Given the description of an element on the screen output the (x, y) to click on. 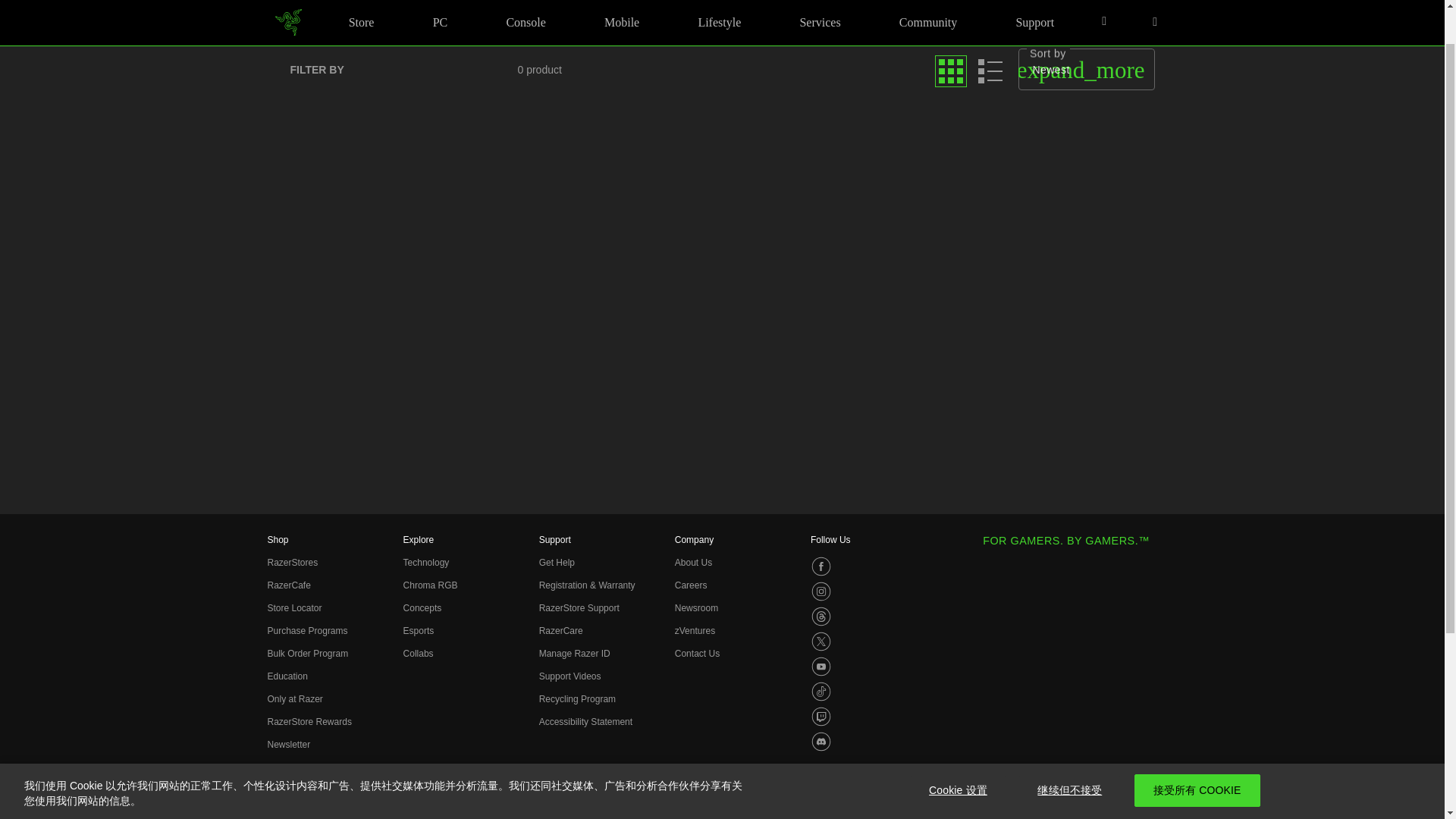
Newsletter (288, 744)
YouTube (820, 666)
Esports (418, 630)
Facebook (820, 566)
Purchase Programs (306, 630)
RazerCafe (288, 584)
Instagram (820, 590)
Chroma RGB (430, 584)
Concepts (422, 607)
Threads (820, 616)
Discord (820, 741)
Technology (426, 562)
X (820, 640)
RazerStore Rewards (308, 721)
Store Locator (293, 607)
